Given the description of an element on the screen output the (x, y) to click on. 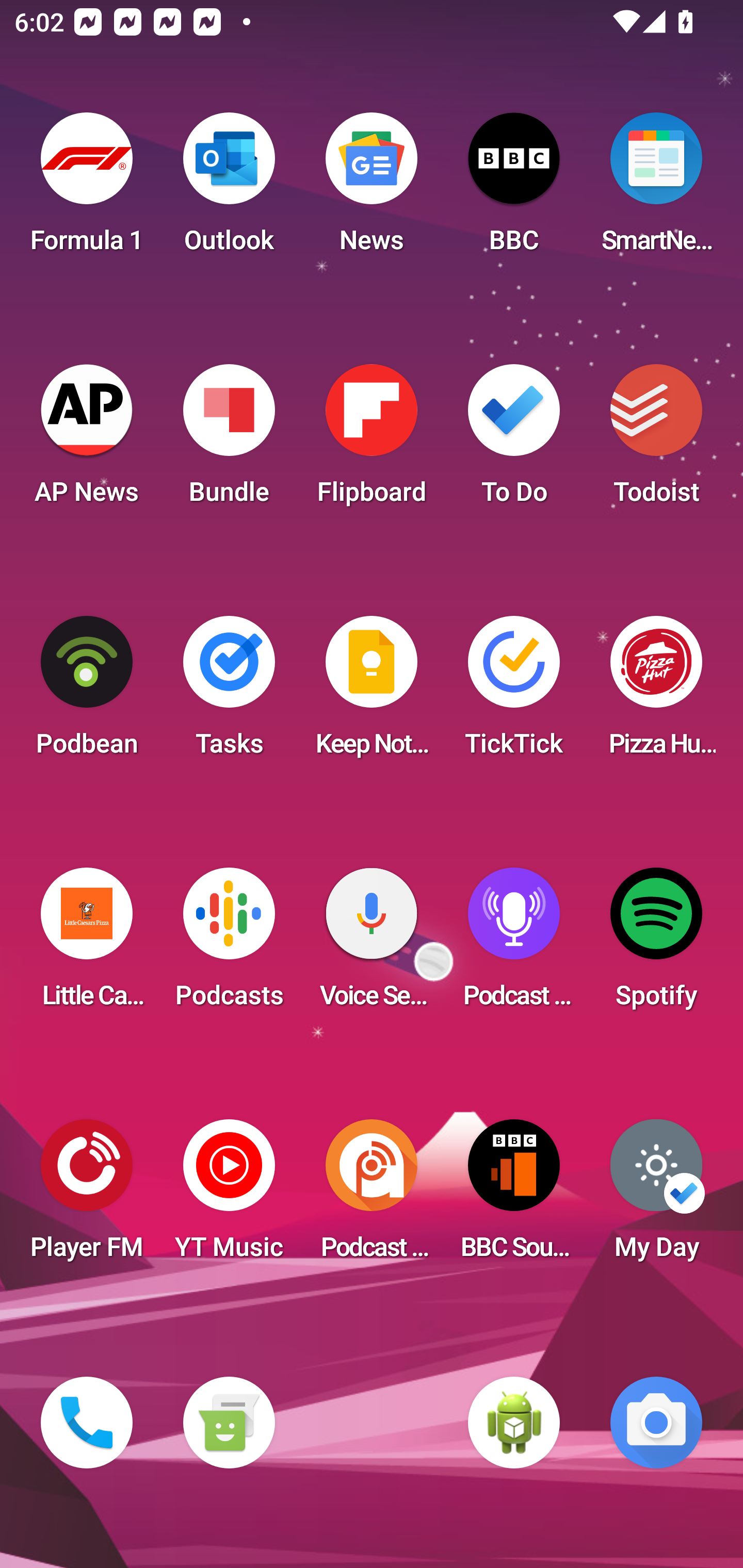
Formula 1 (86, 188)
Outlook (228, 188)
News (371, 188)
BBC (513, 188)
SmartNews (656, 188)
AP News (86, 440)
Bundle (228, 440)
Flipboard (371, 440)
To Do (513, 440)
Todoist (656, 440)
Podbean (86, 692)
Tasks (228, 692)
Keep Notes (371, 692)
TickTick (513, 692)
Pizza Hut HK & Macau (656, 692)
Little Caesars Pizza (86, 943)
Podcasts (228, 943)
Voice Search (371, 943)
Podcast Player (513, 943)
Spotify (656, 943)
Player FM (86, 1195)
YT Music (228, 1195)
Podcast Addict (371, 1195)
BBC Sounds (513, 1195)
My Day (656, 1195)
Phone (86, 1422)
Messaging (228, 1422)
WebView Browser Tester (513, 1422)
Camera (656, 1422)
